Given the description of an element on the screen output the (x, y) to click on. 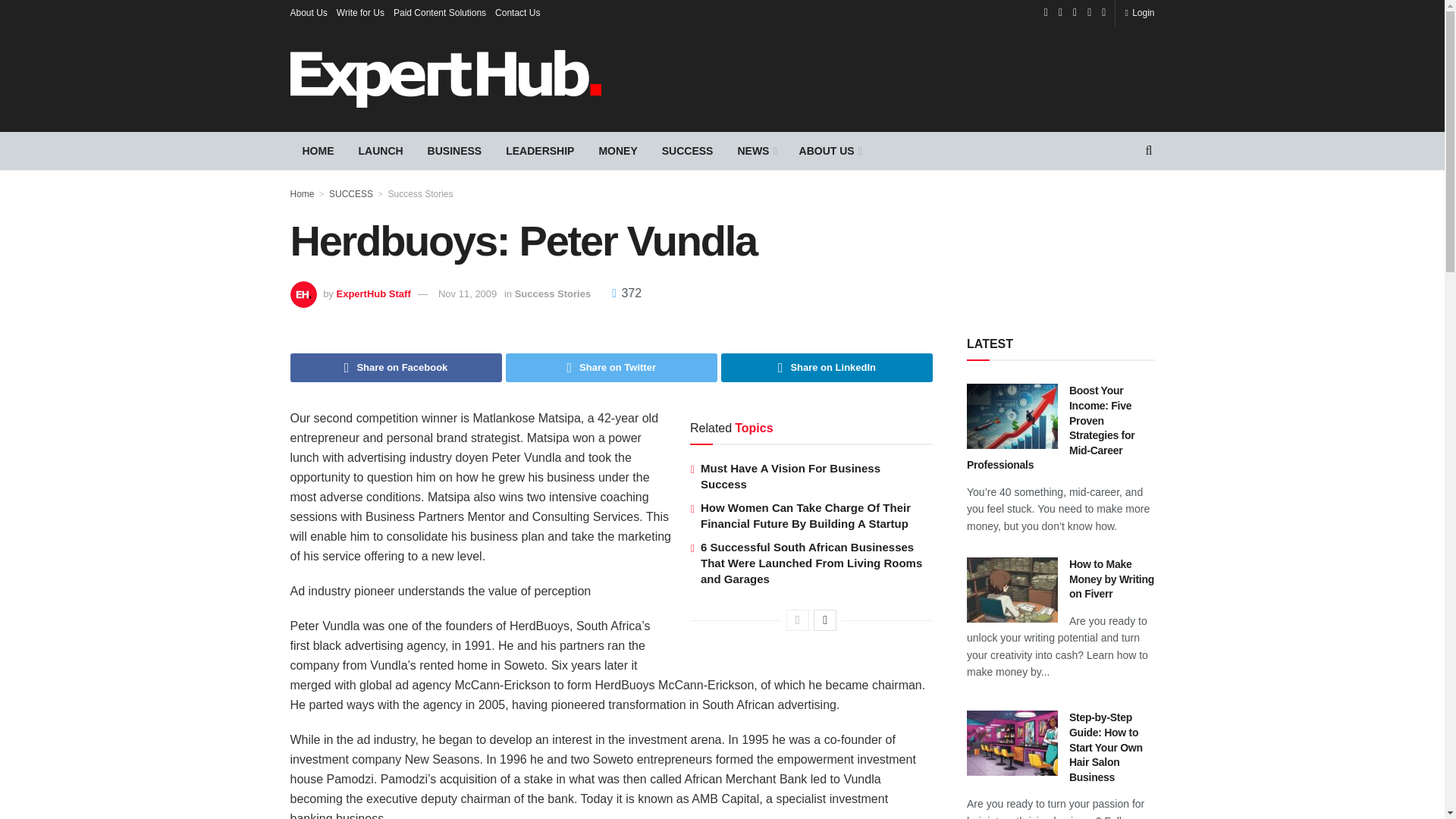
Paid Content Solutions (439, 12)
MONEY (617, 150)
ABOUT US (829, 150)
SUCCESS (687, 150)
LAUNCH (380, 150)
Write for Us (360, 12)
LEADERSHIP (539, 150)
NEWS (755, 150)
Previous (797, 619)
HOME (317, 150)
Login (1139, 12)
About Us (307, 12)
Next (824, 619)
Contact Us (517, 12)
BUSINESS (454, 150)
